Given the description of an element on the screen output the (x, y) to click on. 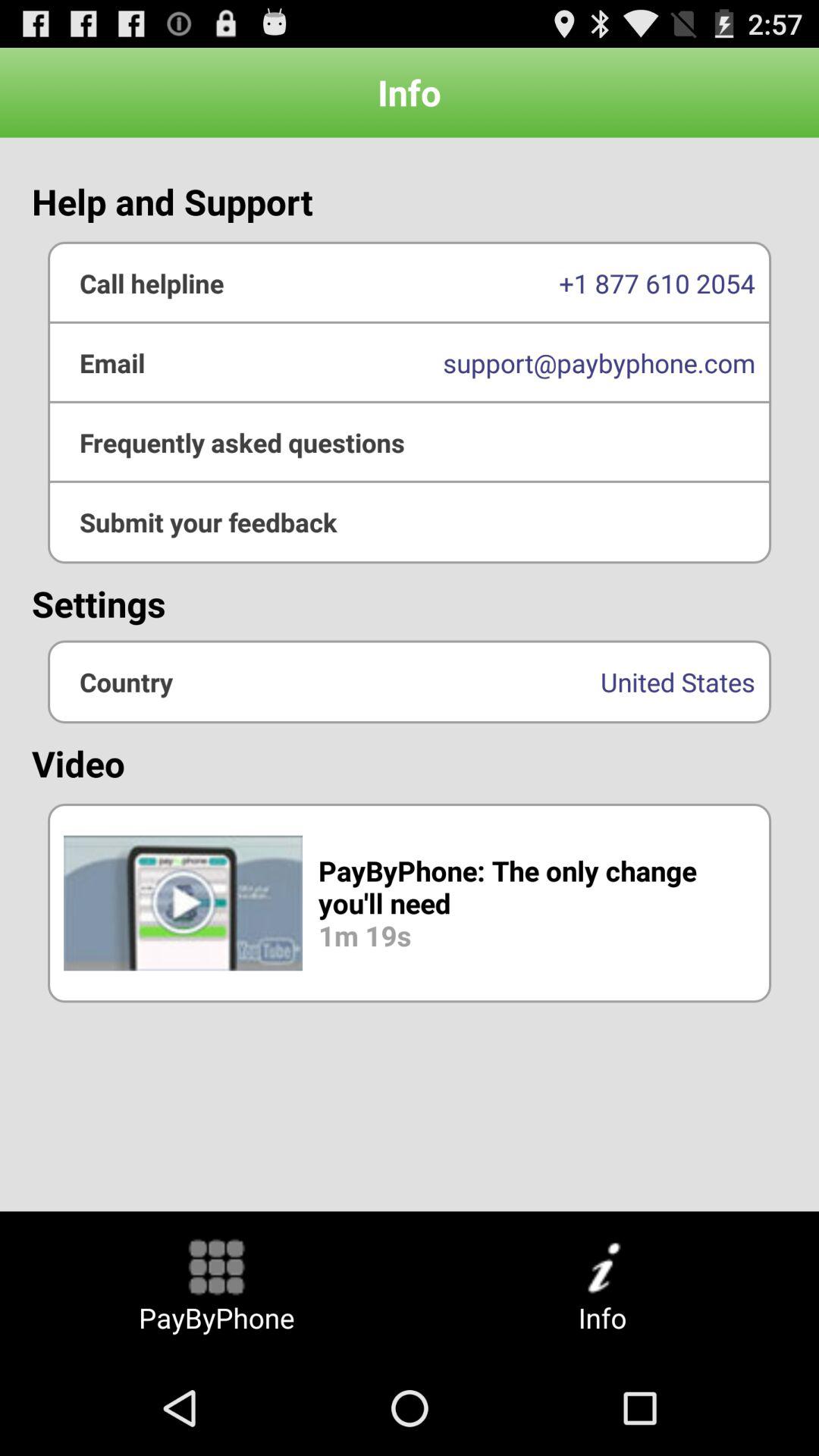
click icon below 1 877 610 icon (409, 442)
